Given the description of an element on the screen output the (x, y) to click on. 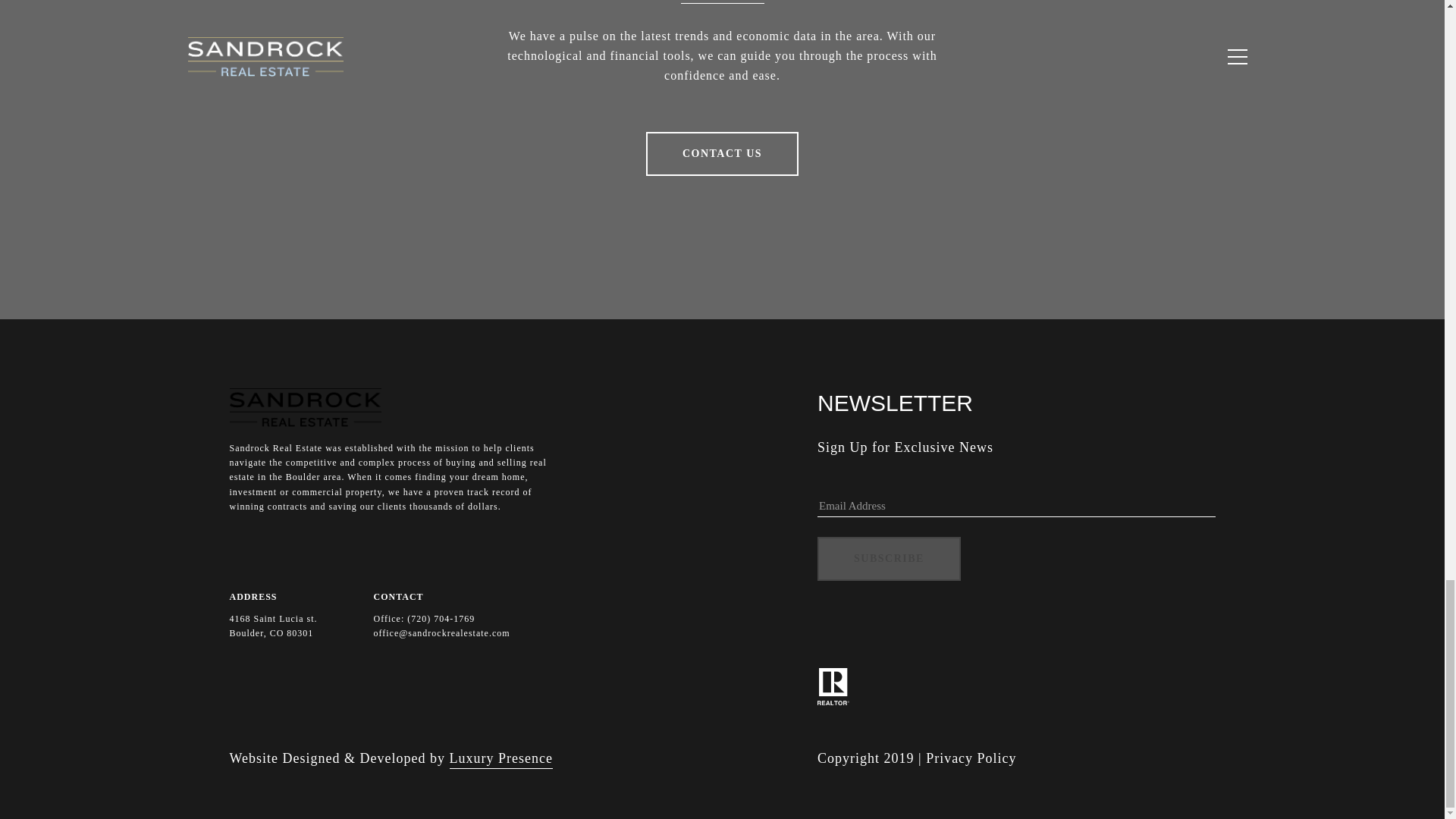
SUBSCRIBE (888, 558)
CONTACT US (721, 153)
SUBSCRIBE (888, 558)
